Given the description of an element on the screen output the (x, y) to click on. 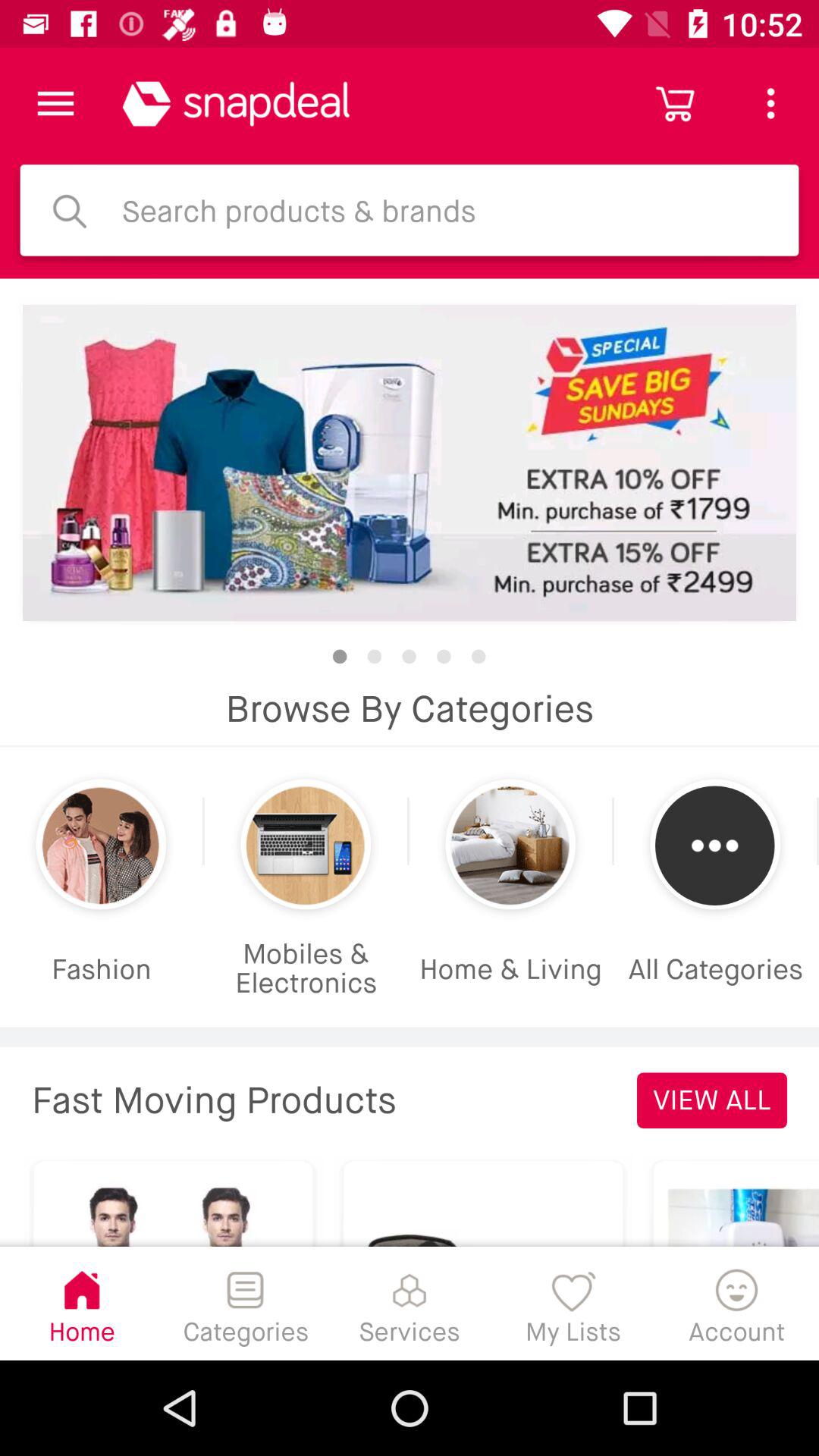
open the account icon (737, 1303)
